Given the description of an element on the screen output the (x, y) to click on. 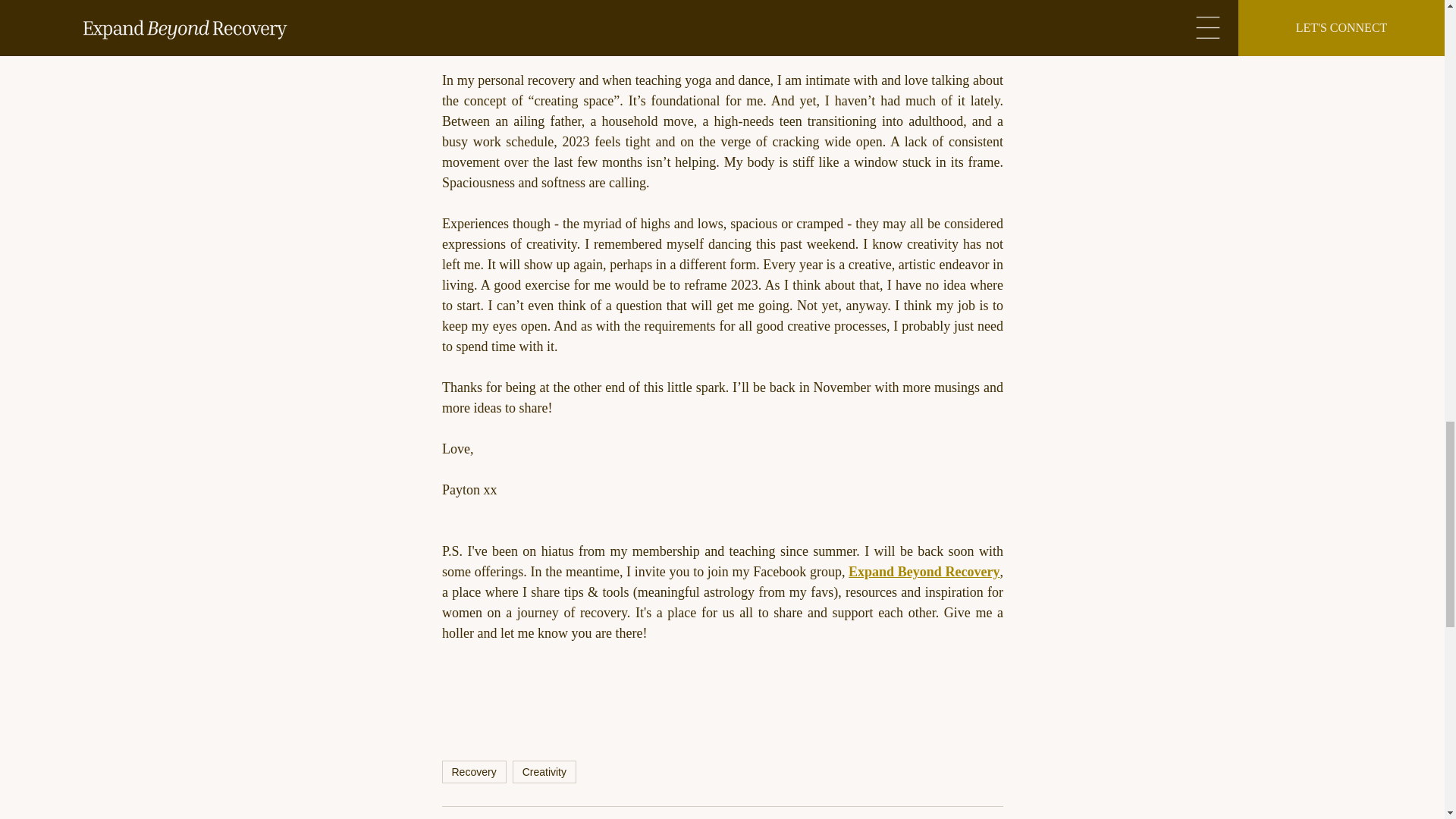
Recovery (473, 771)
Expand Beyond Recovery (923, 571)
Creativity (544, 771)
